Given the description of an element on the screen output the (x, y) to click on. 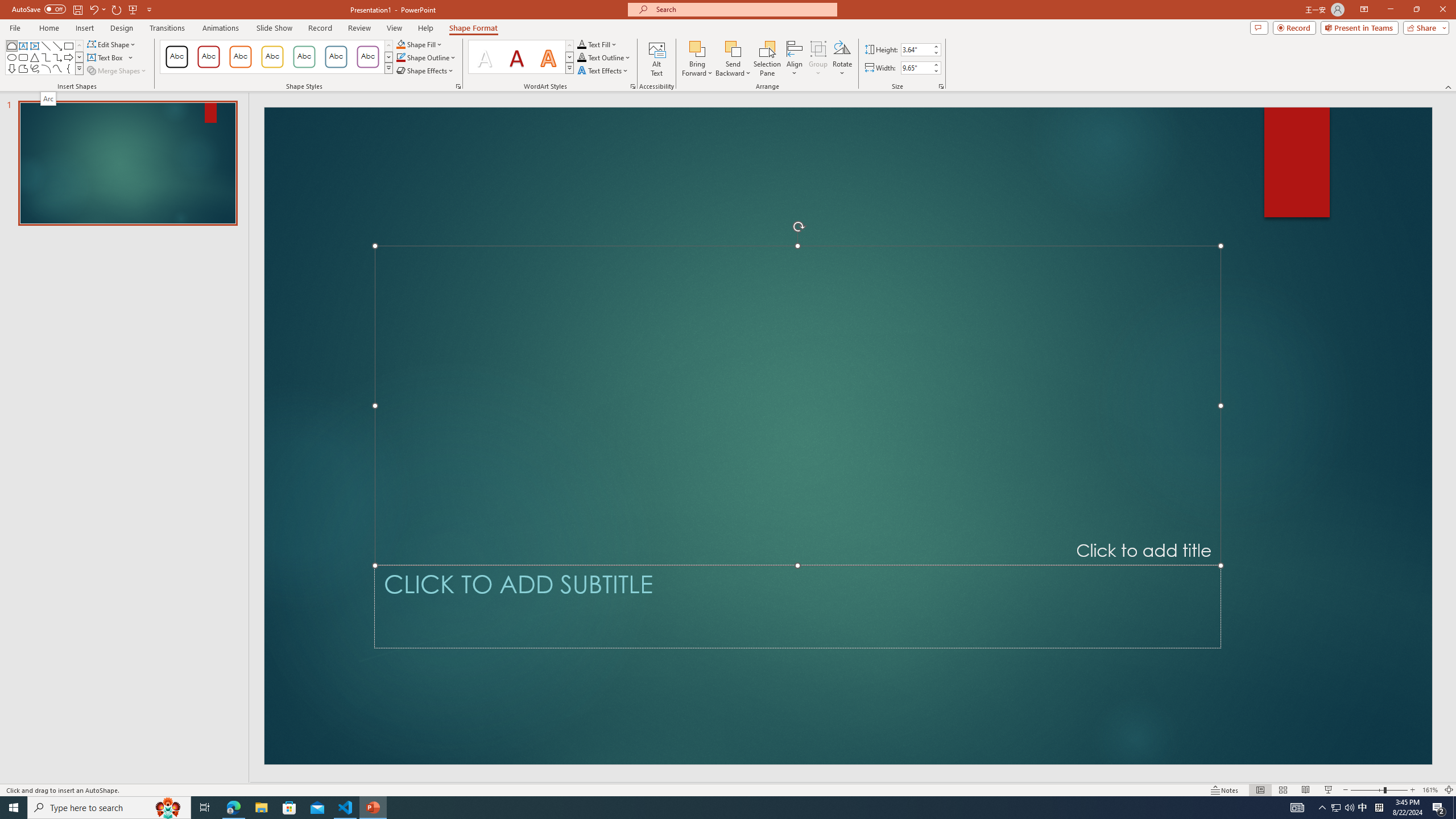
Zoom 161% (1430, 790)
Fill: Dark Red, Accent color 1; Shadow (516, 56)
Colored Outline - Gold, Accent 3 (272, 56)
Shape Width (915, 67)
